Given the description of an element on the screen output the (x, y) to click on. 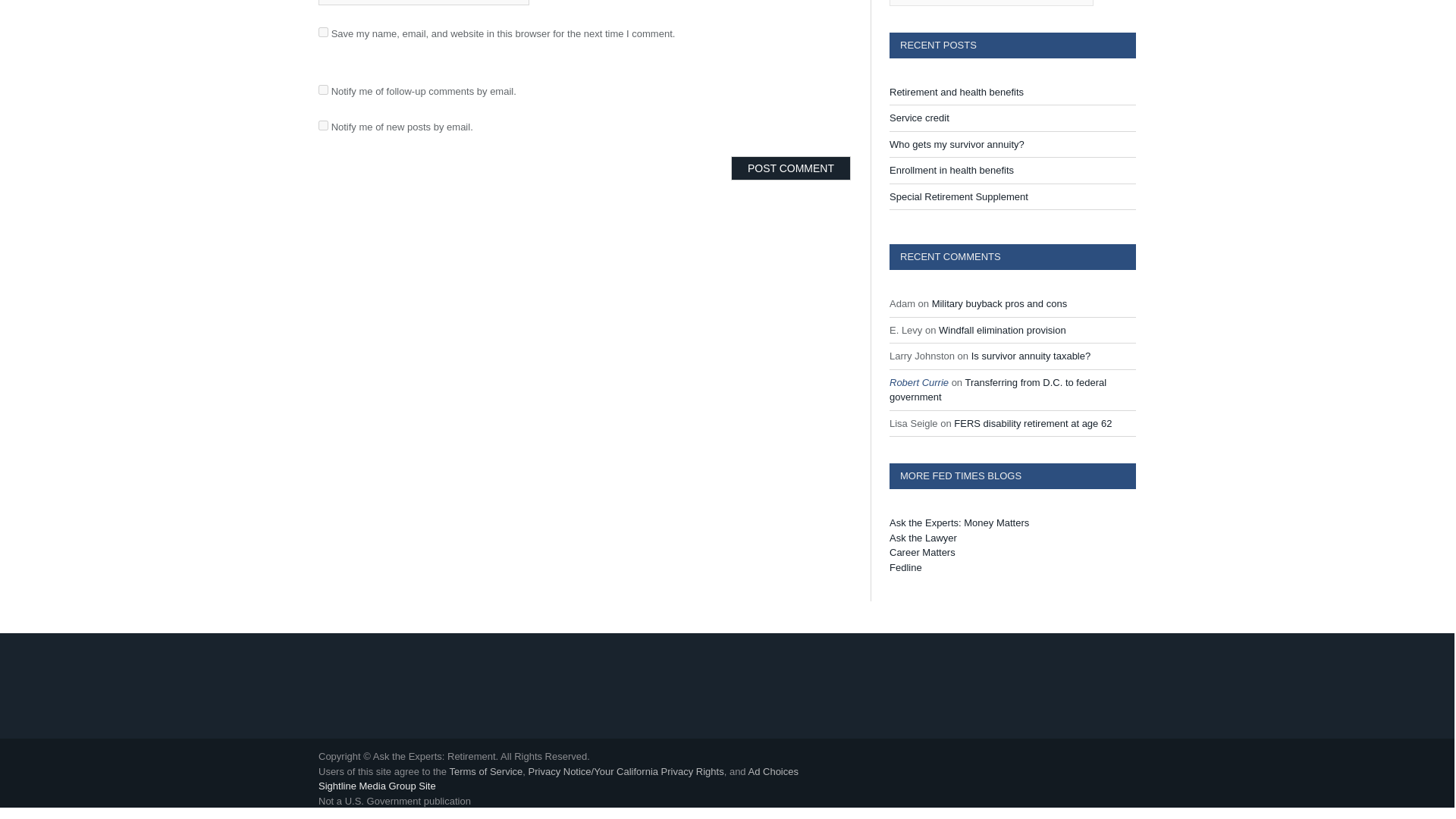
Post Comment (790, 168)
yes (323, 31)
subscribe (323, 125)
subscribe (323, 90)
